Given the description of an element on the screen output the (x, y) to click on. 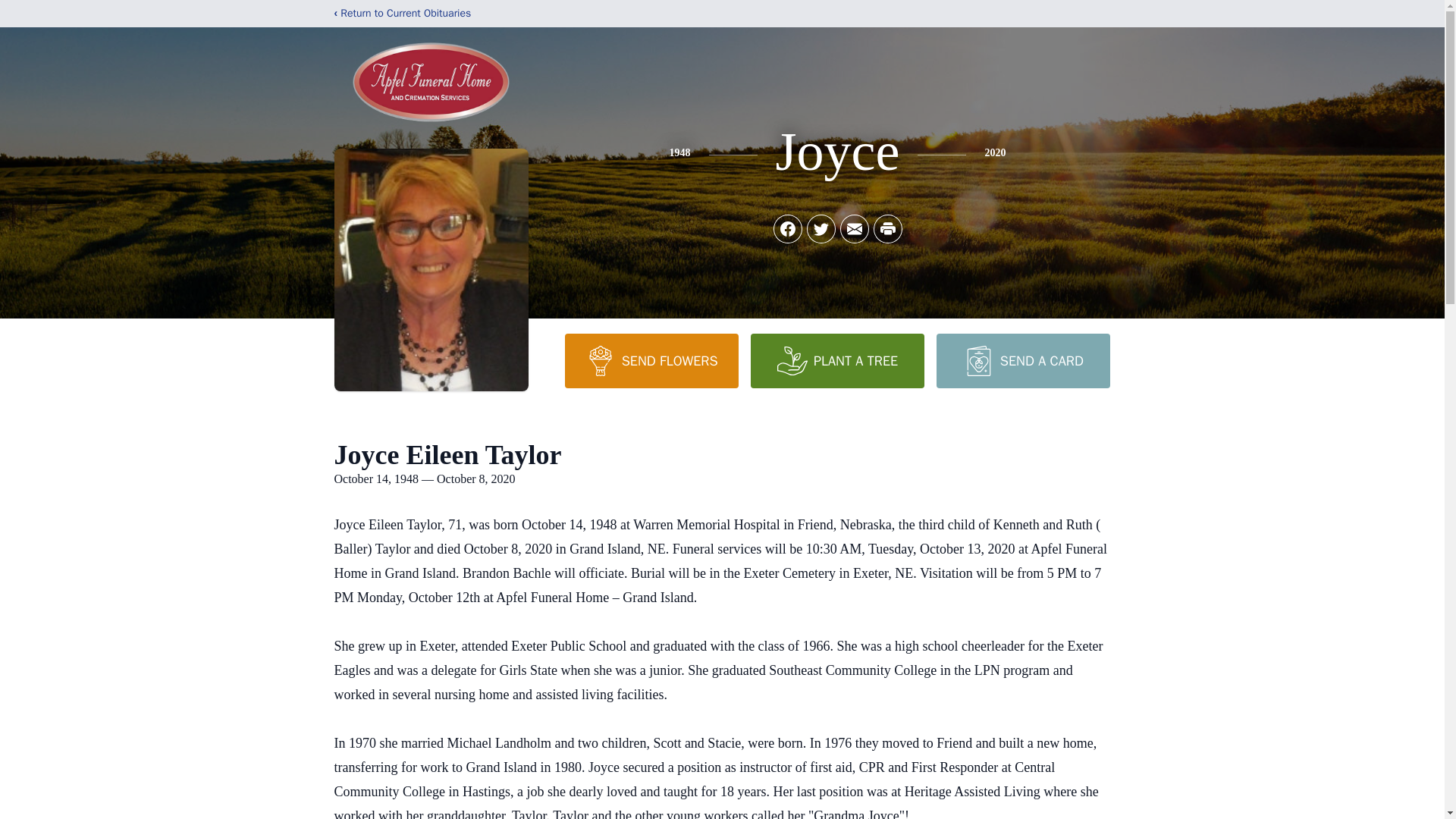
SEND FLOWERS (651, 360)
SEND A CARD (1022, 360)
PLANT A TREE (837, 360)
